Given the description of an element on the screen output the (x, y) to click on. 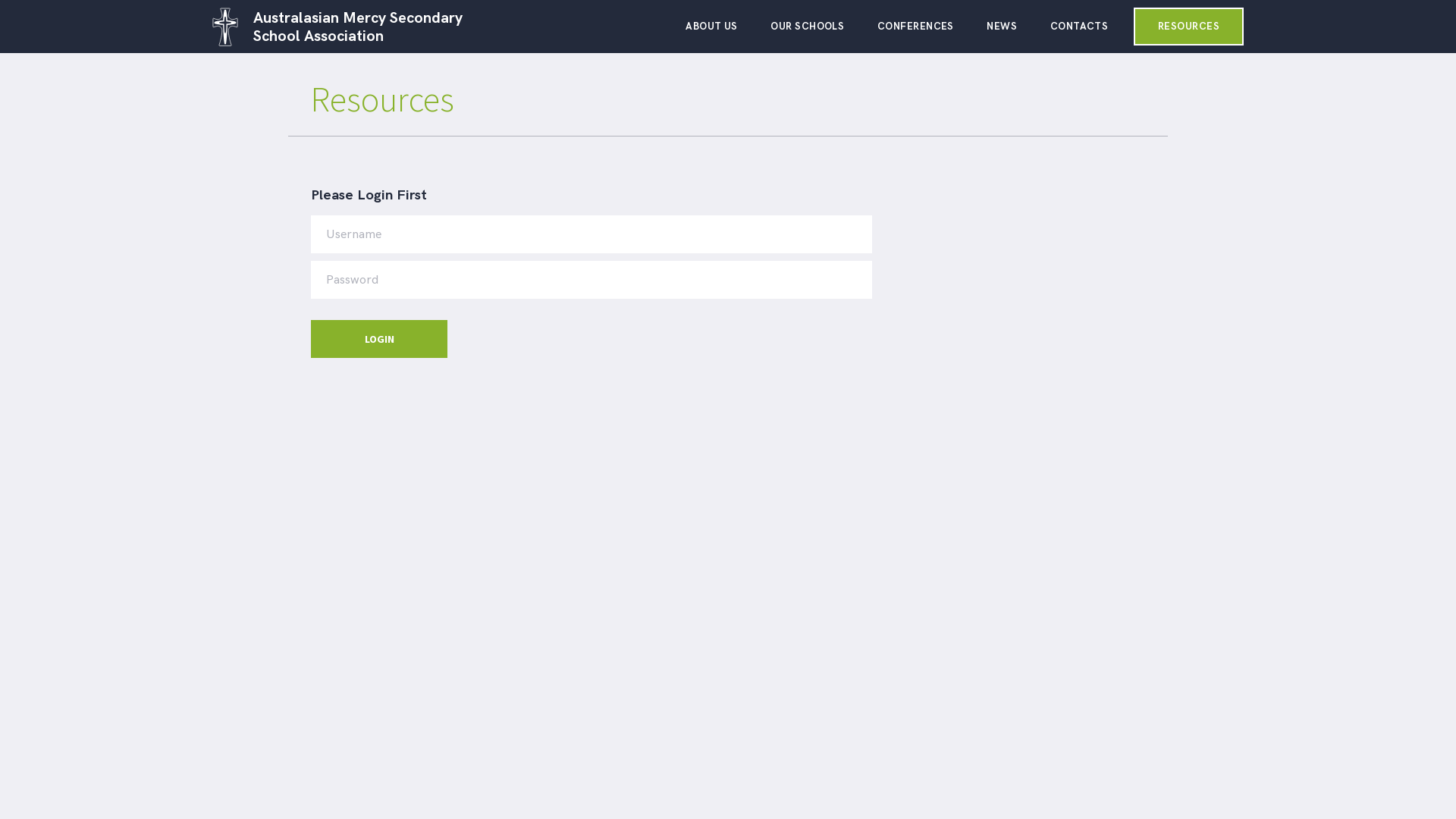
NEWS Element type: text (1001, 32)
RESOURCES Element type: text (1188, 26)
CONFERENCES Element type: text (915, 32)
OUR SCHOOLS Element type: text (806, 32)
LOGIN Element type: text (378, 338)
CONTACTS Element type: text (1079, 32)
ABOUT US Element type: text (711, 32)
